Given the description of an element on the screen output the (x, y) to click on. 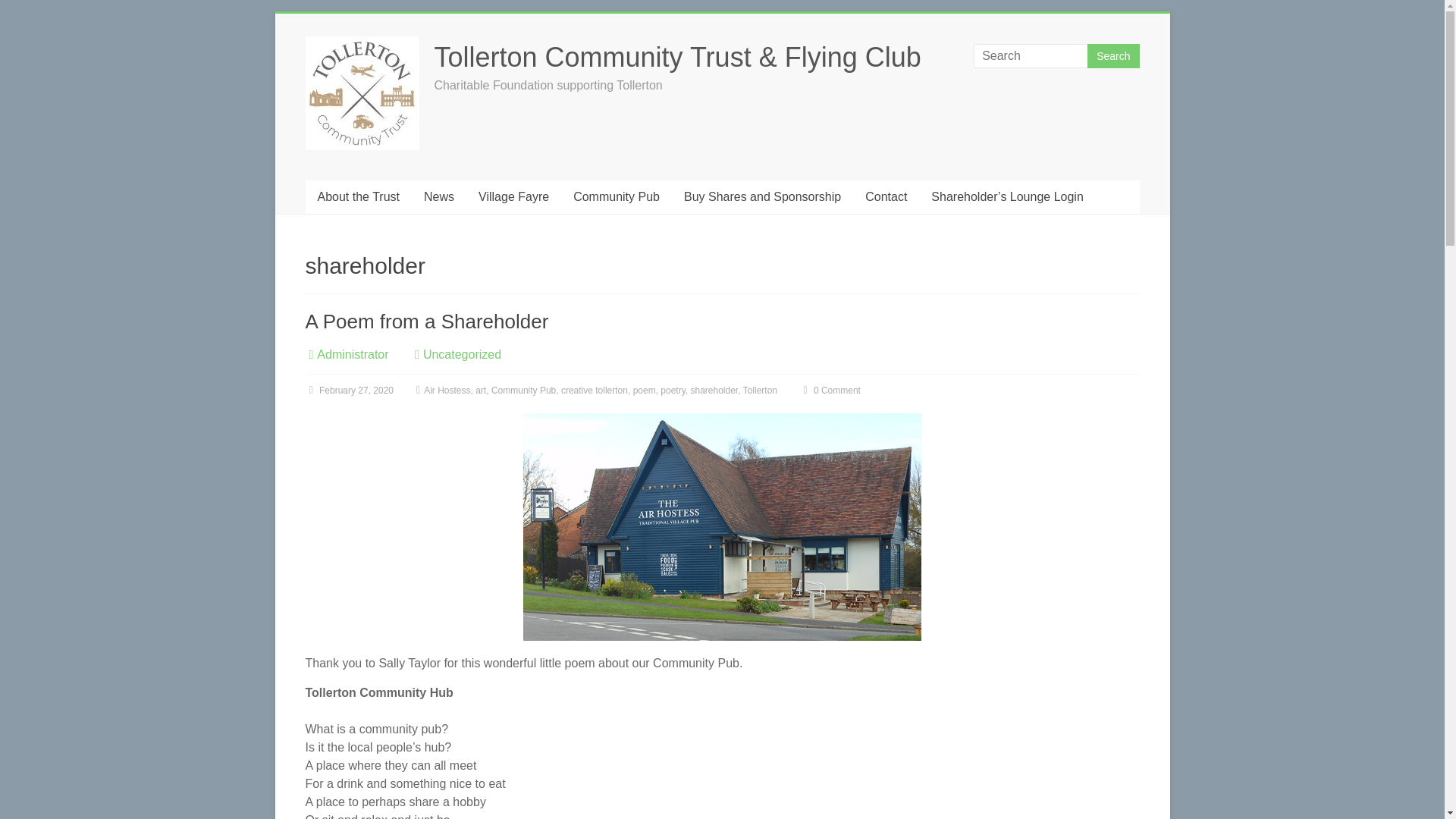
Contact (885, 196)
Community Pub (615, 196)
Air Hostess (446, 389)
Search (1112, 55)
February 27, 2020 (348, 389)
Administrator (352, 354)
A Poem from a Shareholder (721, 526)
News (438, 196)
Administrator (352, 354)
A Poem from a Shareholder (721, 420)
